Given the description of an element on the screen output the (x, y) to click on. 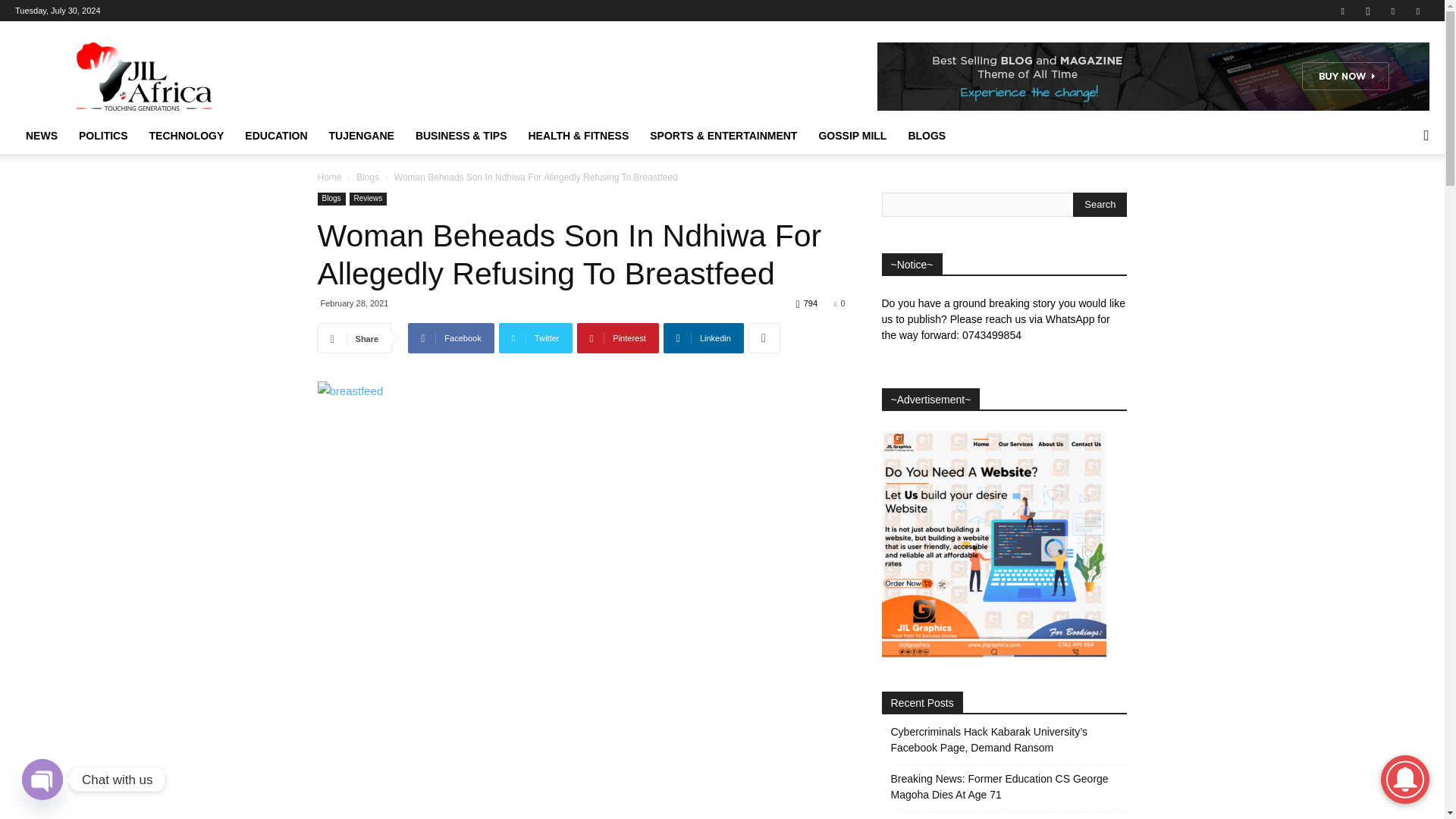
Linkedin (1393, 10)
Instagram (1367, 10)
TECHNOLOGY (186, 135)
Search (1099, 204)
POLITICS (103, 135)
NEWS (41, 135)
Facebook (1343, 10)
